Given the description of an element on the screen output the (x, y) to click on. 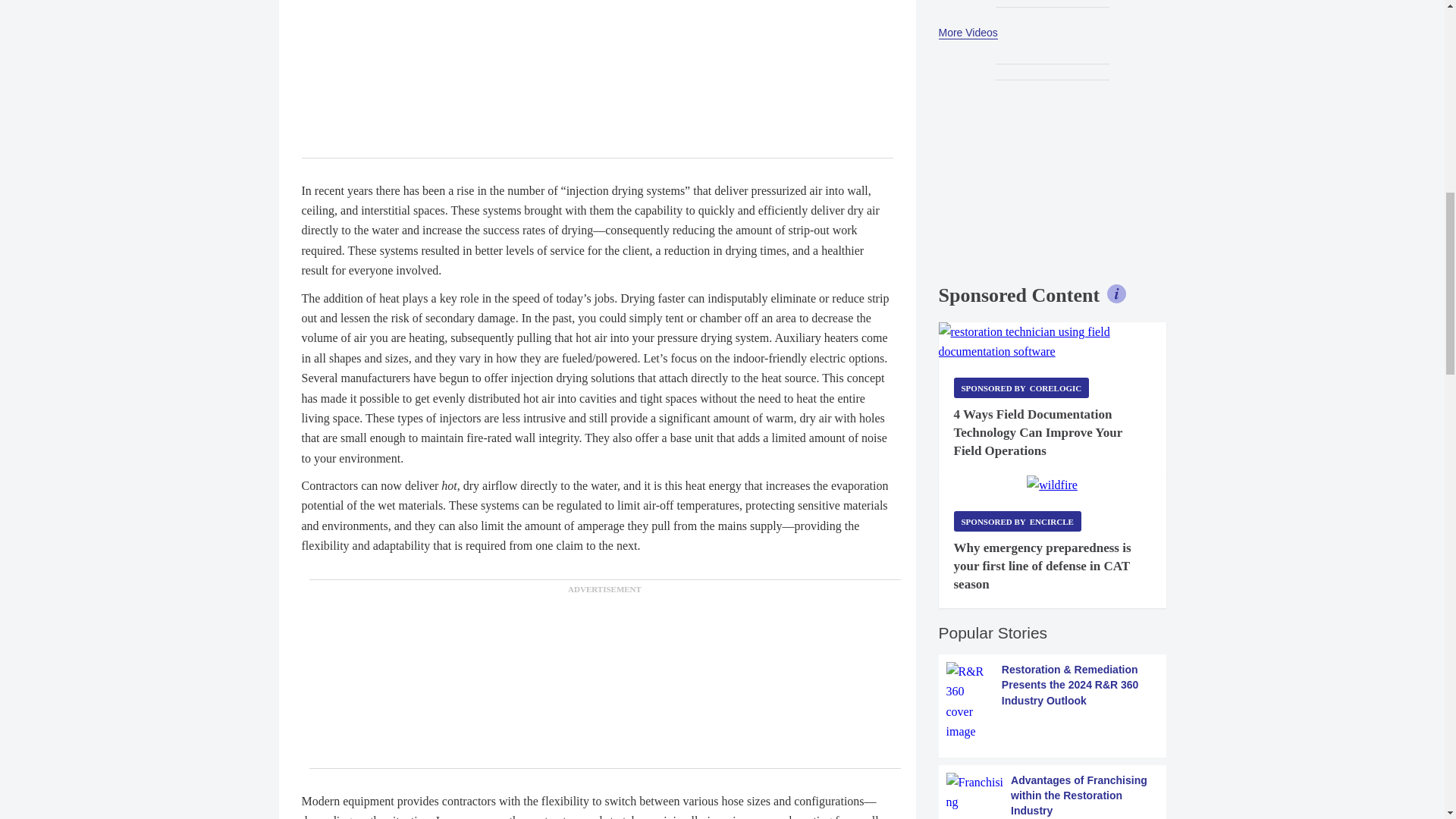
Sponsored by Encircle (1017, 521)
Sponsored by CoreLogic (1021, 387)
wildfire (1051, 485)
restoration technician using field documentation software (1052, 342)
Advantages of Franchising within the Restoration Industry (1052, 796)
